Given the description of an element on the screen output the (x, y) to click on. 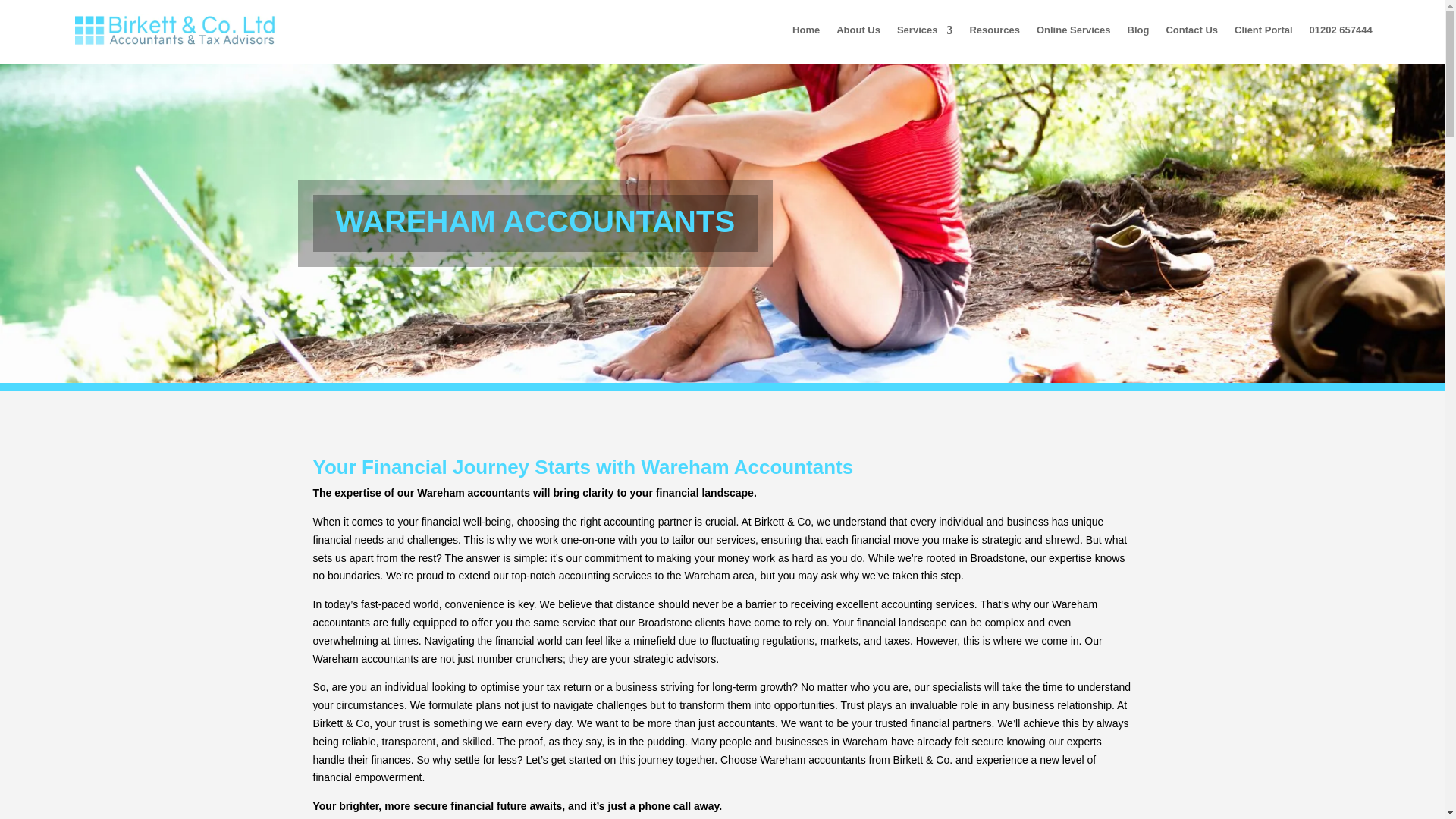
Client Portal (1263, 42)
About Us (857, 42)
Services (924, 42)
Online Services (1073, 42)
01202 657444 (1340, 42)
Contact Us (1191, 42)
Resources (994, 42)
